Given the description of an element on the screen output the (x, y) to click on. 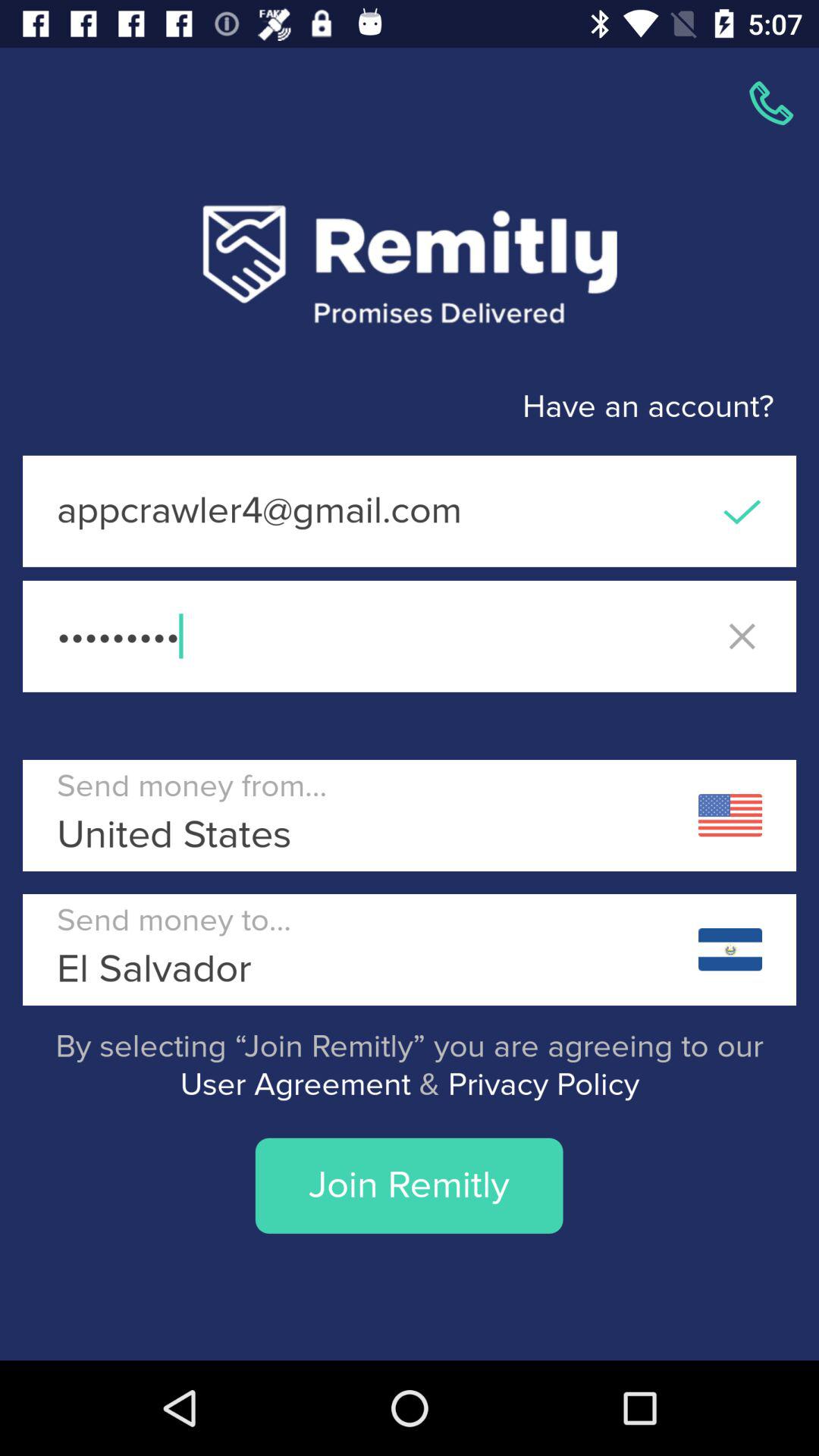
select the item below the el salvador item (409, 1065)
